Given the description of an element on the screen output the (x, y) to click on. 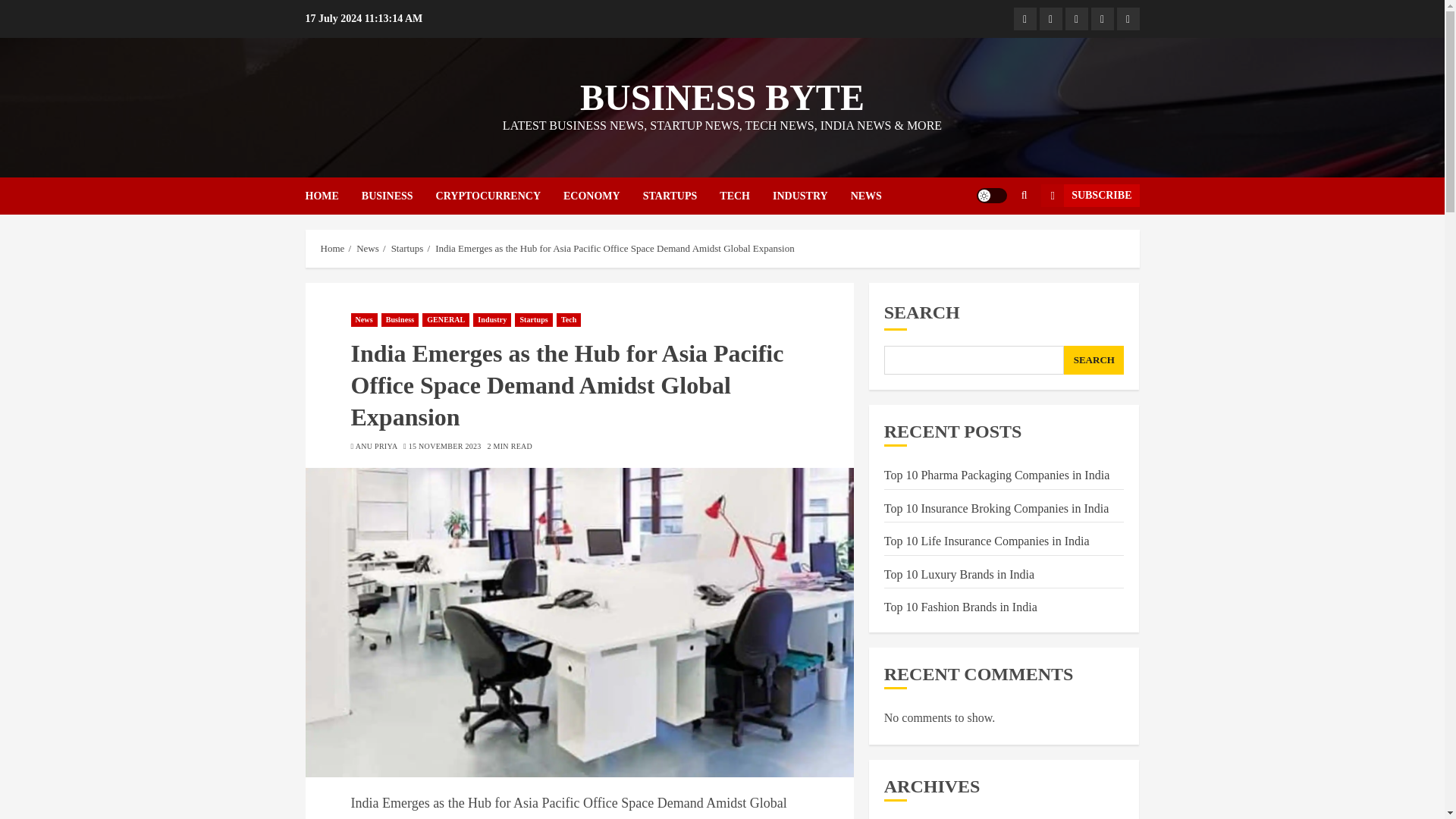
News (363, 319)
Search (994, 241)
BUSINESS BYTE (721, 96)
Tech (568, 319)
STARTUPS (681, 195)
Facebook (1024, 18)
Startups (407, 248)
Youtube (1101, 18)
CRYPTOCURRENCY (499, 195)
GENERAL (445, 319)
Search (1023, 194)
BUSINESS (398, 195)
ANU PRIYA (376, 446)
TECH (746, 195)
